Given the description of an element on the screen output the (x, y) to click on. 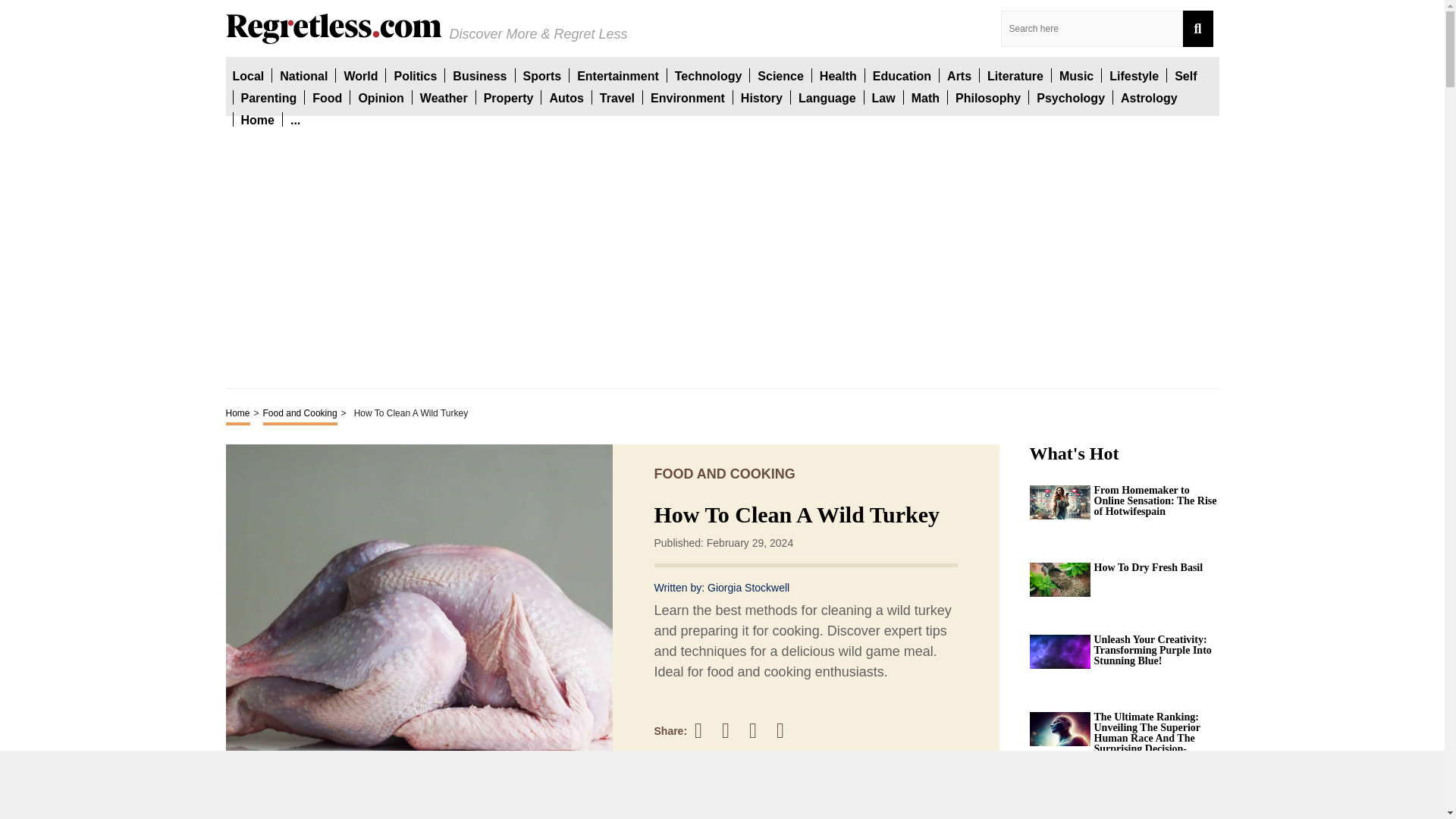
Health (838, 74)
Lifestyle (1133, 74)
Science (780, 74)
Philosophy (987, 97)
Arts (959, 74)
History (762, 97)
Share on Pinterest (759, 730)
Technology (708, 74)
Sports (542, 74)
Food (327, 97)
